Given the description of an element on the screen output the (x, y) to click on. 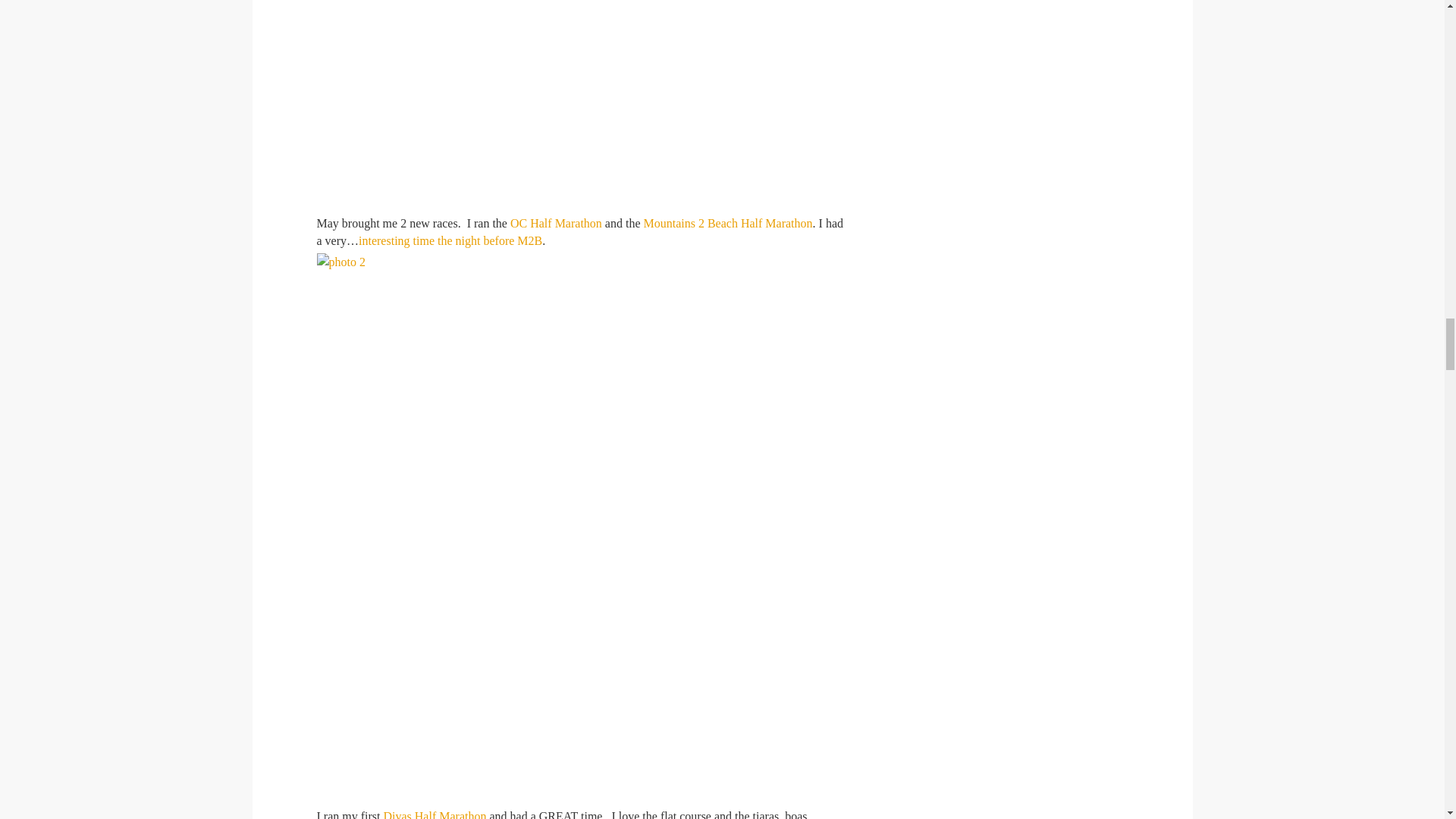
interesting time the night before M2B (449, 240)
OC Half Marathon (556, 223)
Divas Half Marathon (434, 814)
Mountains 2 Beach Half Marathon (727, 223)
